Given the description of an element on the screen output the (x, y) to click on. 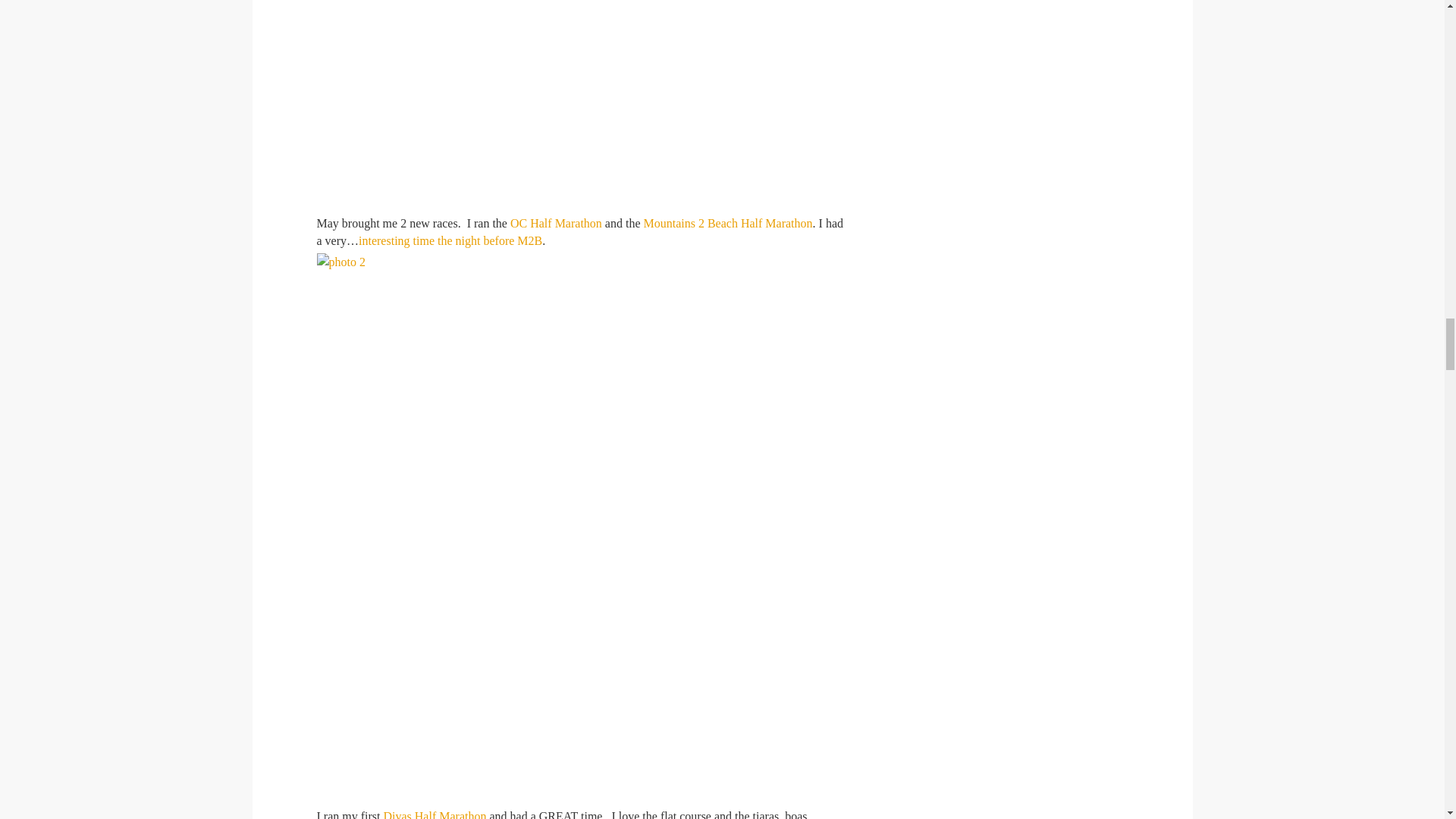
interesting time the night before M2B (449, 240)
OC Half Marathon (556, 223)
Divas Half Marathon (434, 814)
Mountains 2 Beach Half Marathon (727, 223)
